Given the description of an element on the screen output the (x, y) to click on. 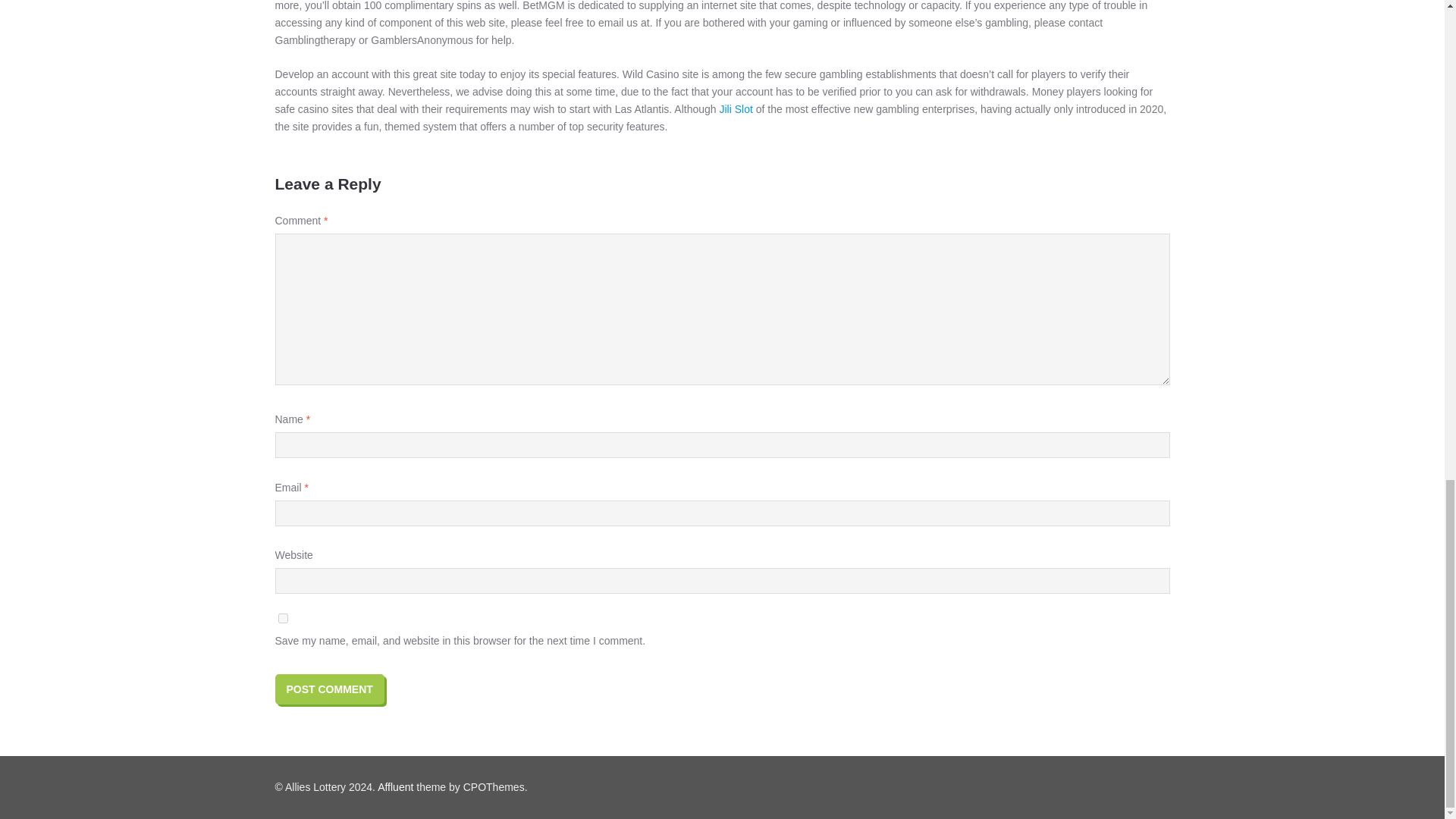
Post Comment (329, 689)
Post Comment (329, 689)
Affluent (395, 787)
yes (282, 618)
Jili Slot (735, 109)
